Given the description of an element on the screen output the (x, y) to click on. 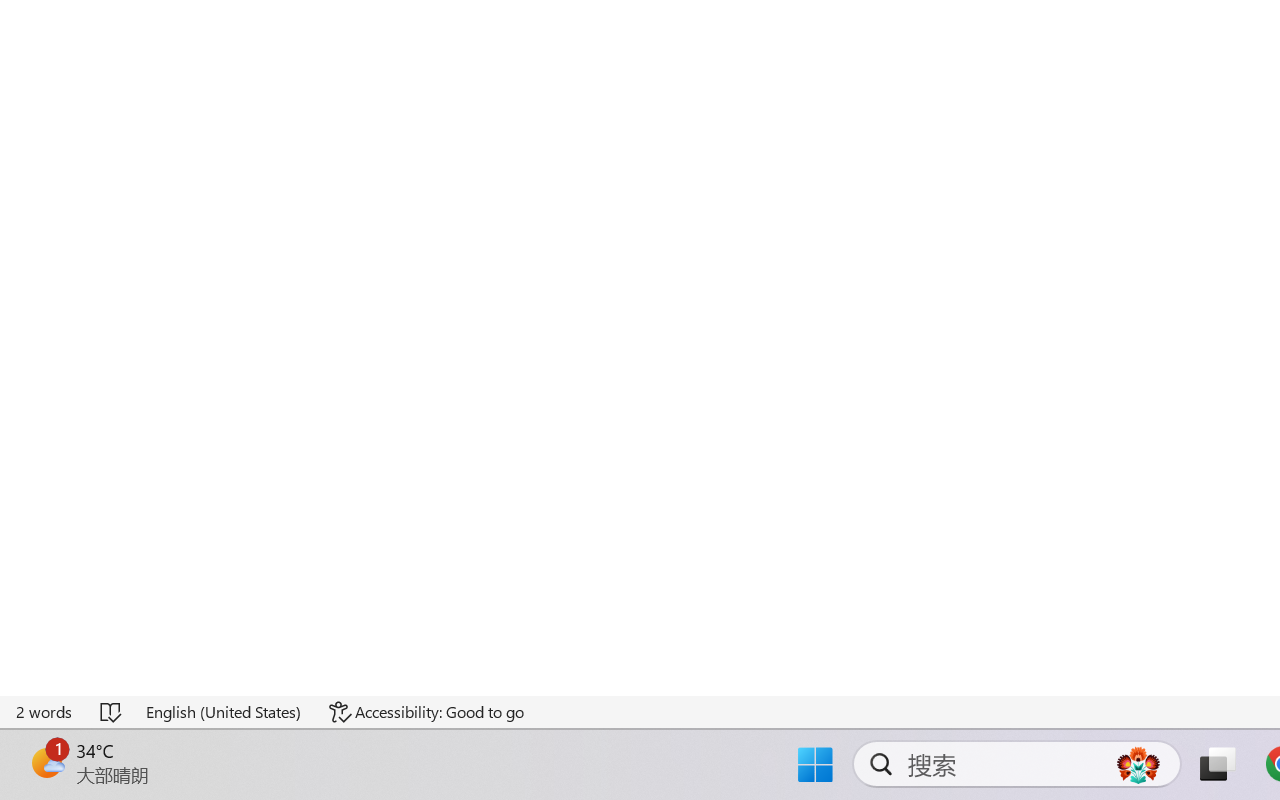
AutomationID: DynamicSearchBoxGleamImage (1138, 764)
Spelling and Grammar Check No Errors (112, 712)
AutomationID: BadgeAnchorLargeTicker (46, 762)
Word Count 2 words (45, 712)
Accessibility Checker Accessibility: Good to go (426, 712)
Language English (United States) (224, 712)
